Given the description of an element on the screen output the (x, y) to click on. 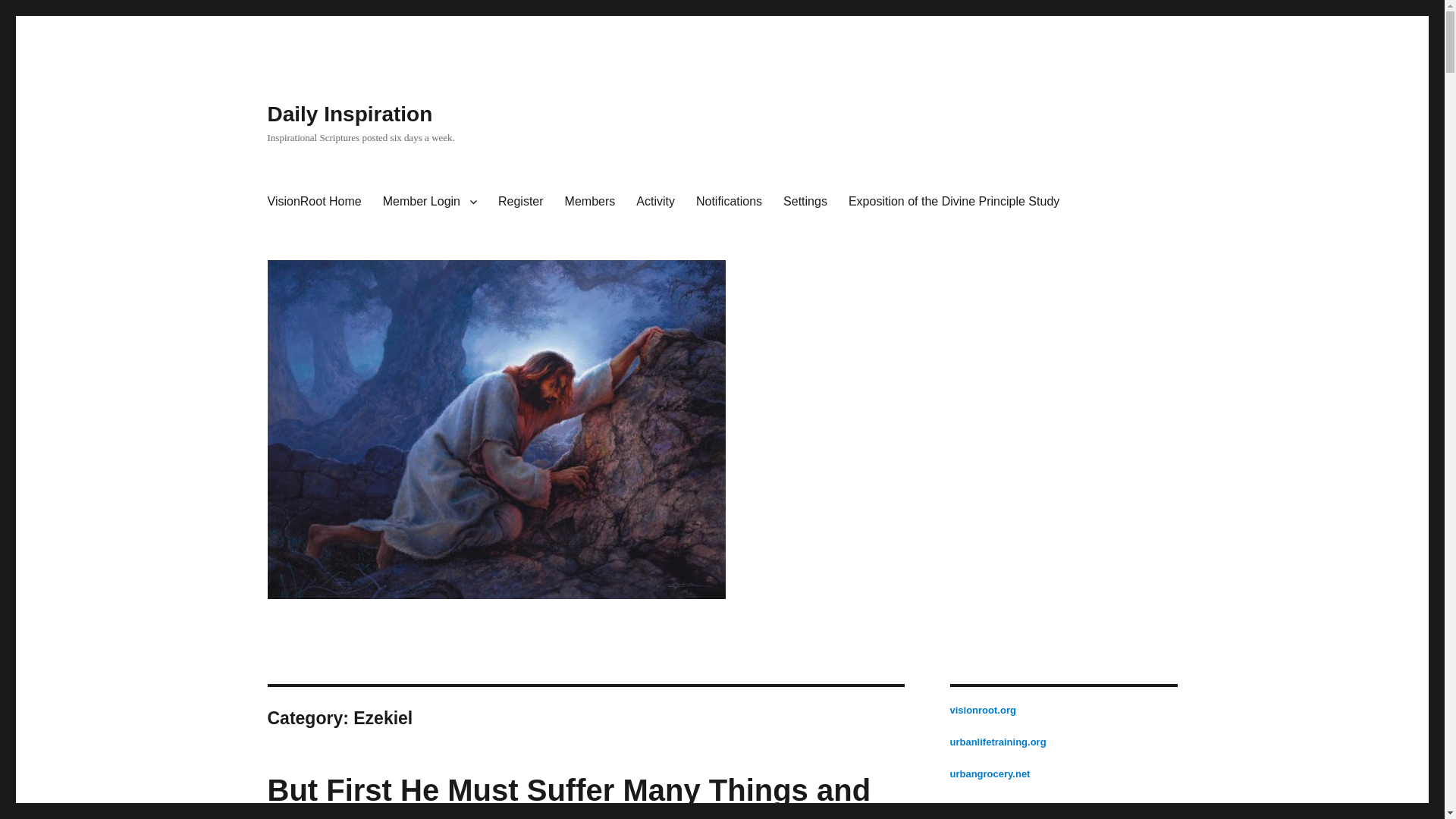
Daily Inspiration (349, 114)
Notifications (729, 201)
Exposition of the Divine Principle Study (954, 201)
Members (590, 201)
Register (520, 201)
Settings (805, 201)
VisionRoot Home (313, 201)
Member Login (429, 201)
Activity (655, 201)
